Given the description of an element on the screen output the (x, y) to click on. 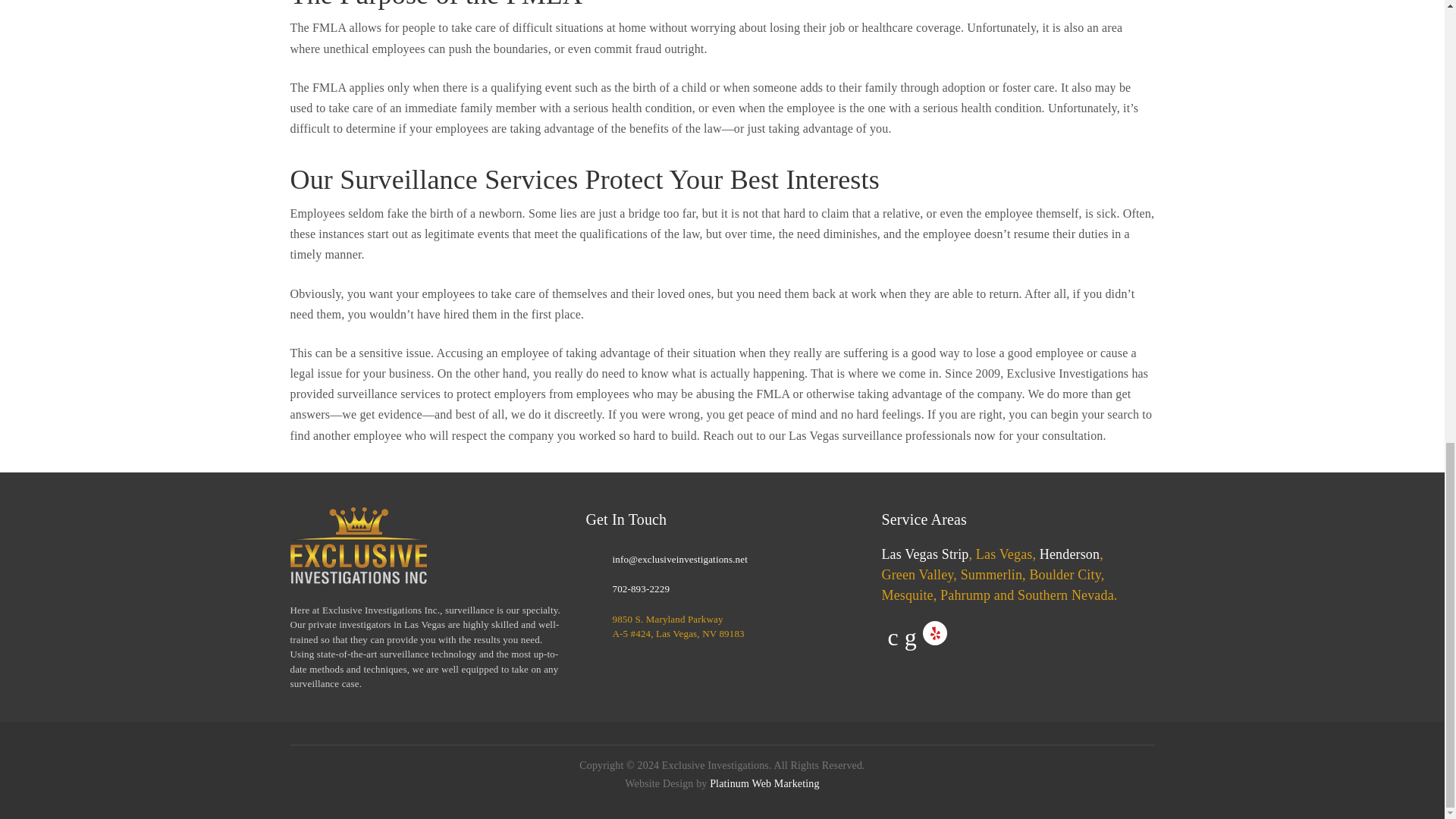
Henderson (1069, 554)
Platinum Web Marketing (762, 784)
Las Vegas Strip (924, 554)
702-893-2229 (640, 589)
